Given the description of an element on the screen output the (x, y) to click on. 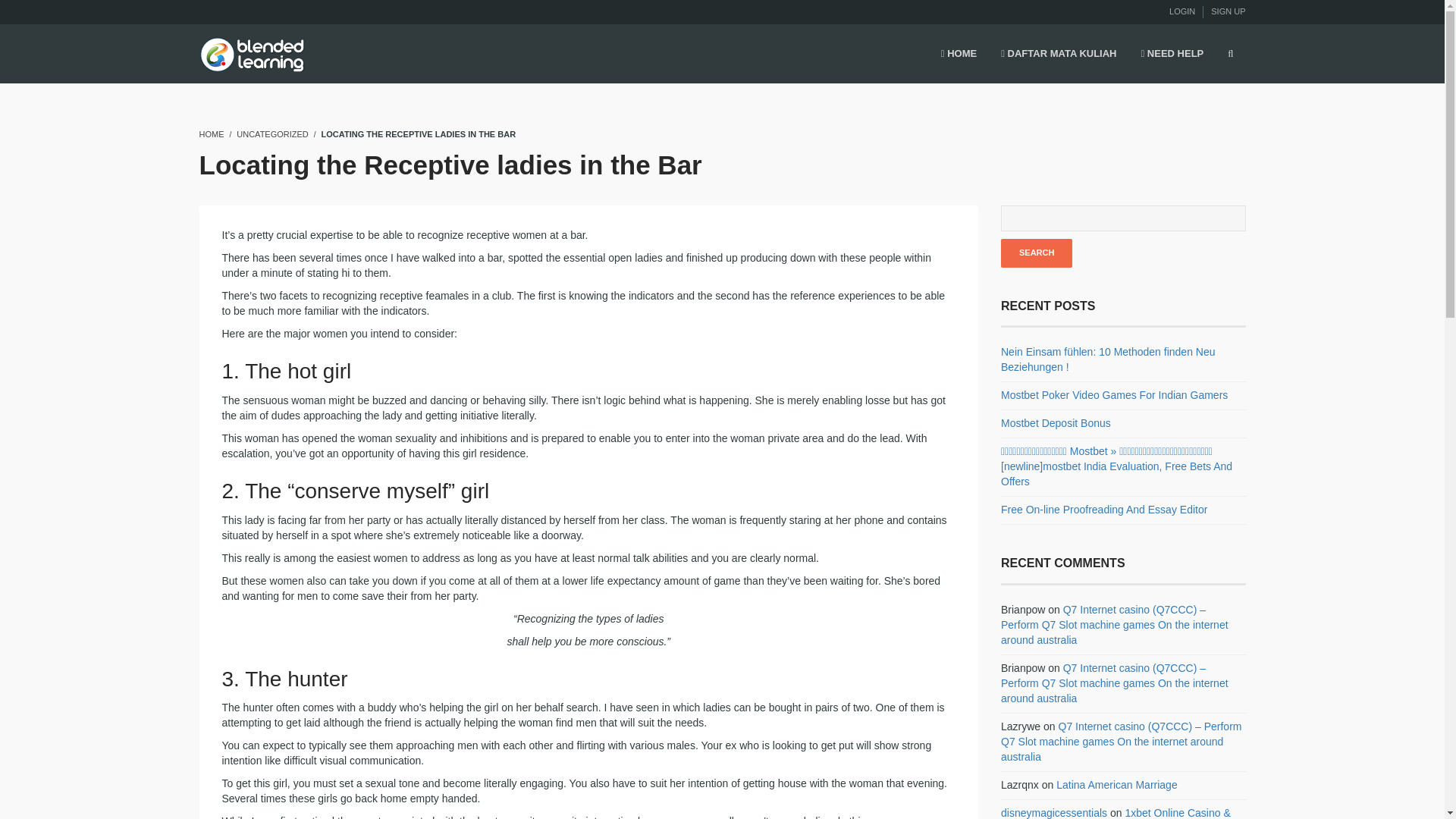
Latina American Marriage (1117, 784)
UNCATEGORIZED (271, 133)
Create an account (1227, 10)
Search (1036, 253)
disneymagicessentials (1053, 812)
NEED HELP (1171, 54)
DAFTAR MATA KULIAH (1058, 54)
Mostbet Deposit Bonus (1055, 422)
Free On-line Proofreading And Essay Editor (1104, 509)
SIGN UP (1227, 10)
